Given the description of an element on the screen output the (x, y) to click on. 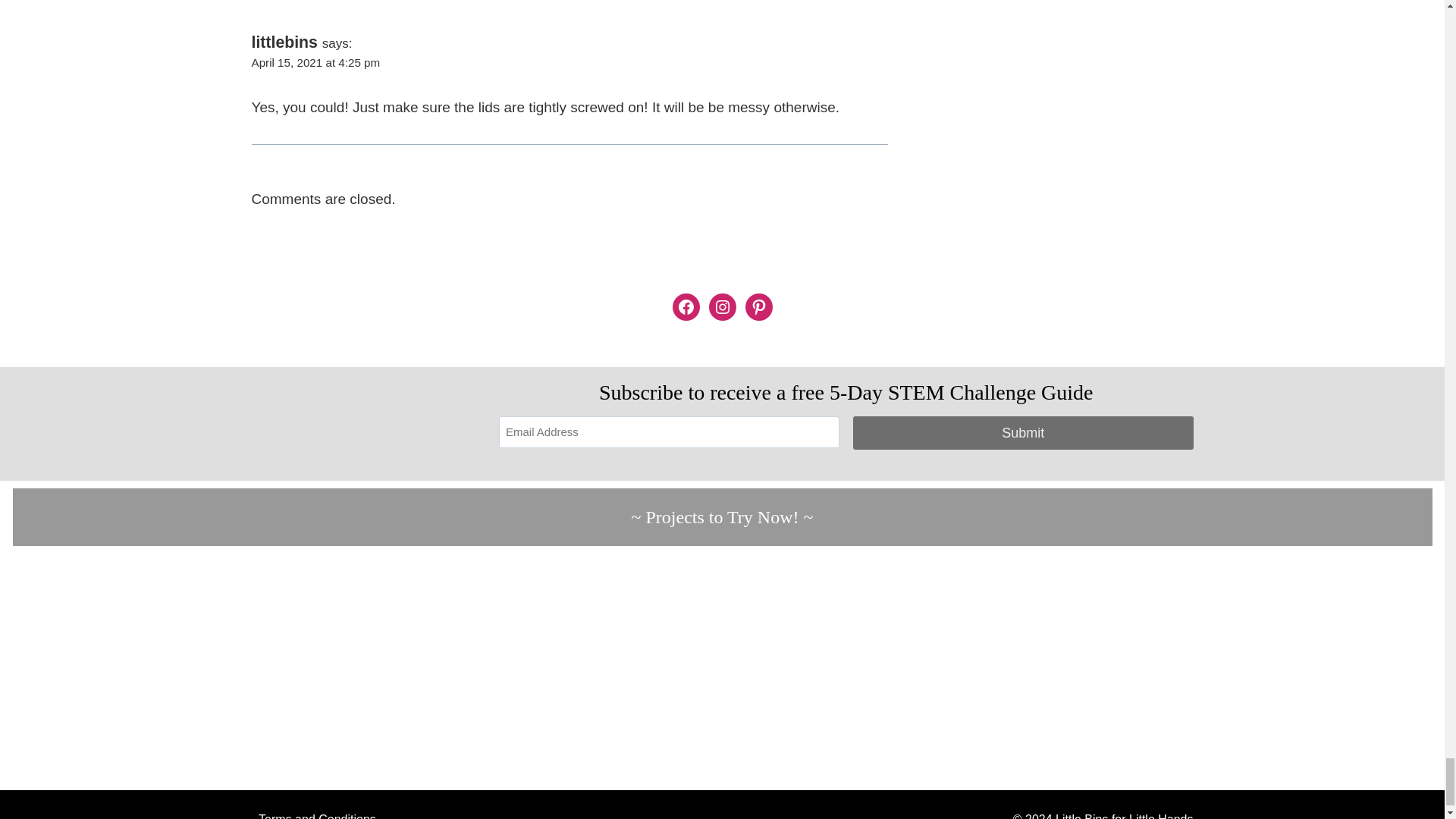
Science Jar Activities for Kids (126, 667)
Catapult STEM Activity for Kids (604, 667)
Naked Egg Activity Rubber Egg Science (840, 667)
Submit (1023, 432)
Fluffy Saline Solution Slime (1080, 667)
lemon volcano erupting chemistry (1318, 667)
